Given the description of an element on the screen output the (x, y) to click on. 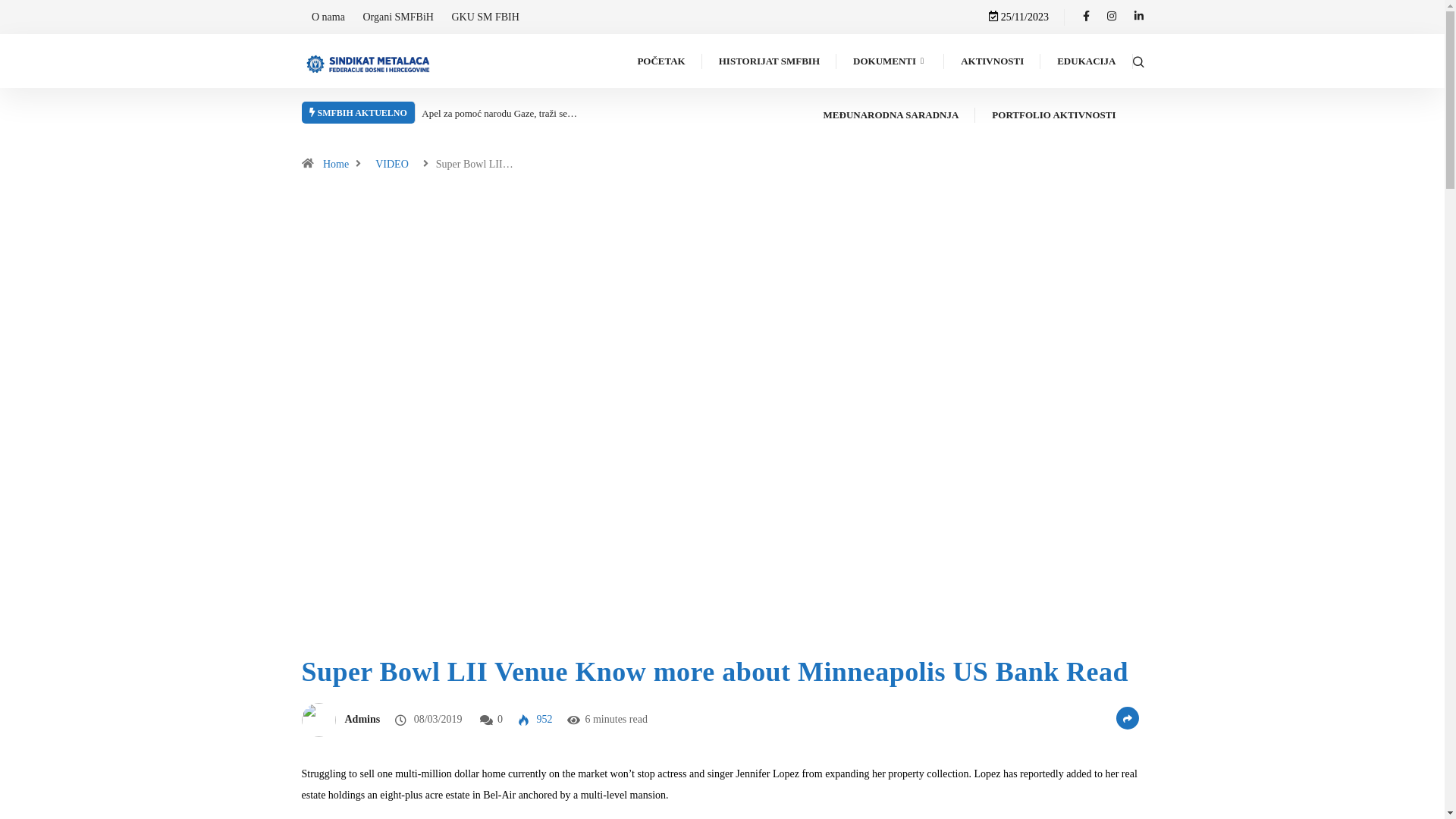
Home Element type: text (335, 163)
facebook Element type: hover (1085, 16)
AKTIVNOSTI Element type: text (992, 60)
HISTORIJAT SMFBIH Element type: text (769, 60)
Admins Element type: text (361, 718)
PORTFOLIO AKTIVNOSTI Element type: text (1053, 114)
Linkedin Element type: hover (1138, 16)
Organi SMFBiH Element type: text (397, 16)
O nama Element type: text (328, 16)
GKU SM FBIH Element type: text (484, 16)
popup modal for search Element type: hover (1137, 60)
EDUKACIJA Element type: text (1086, 60)
VIDEO Element type: text (391, 163)
0 Element type: text (499, 718)
DOKUMENTI Element type: text (890, 60)
Instrgram Element type: hover (1111, 16)
